Given the description of an element on the screen output the (x, y) to click on. 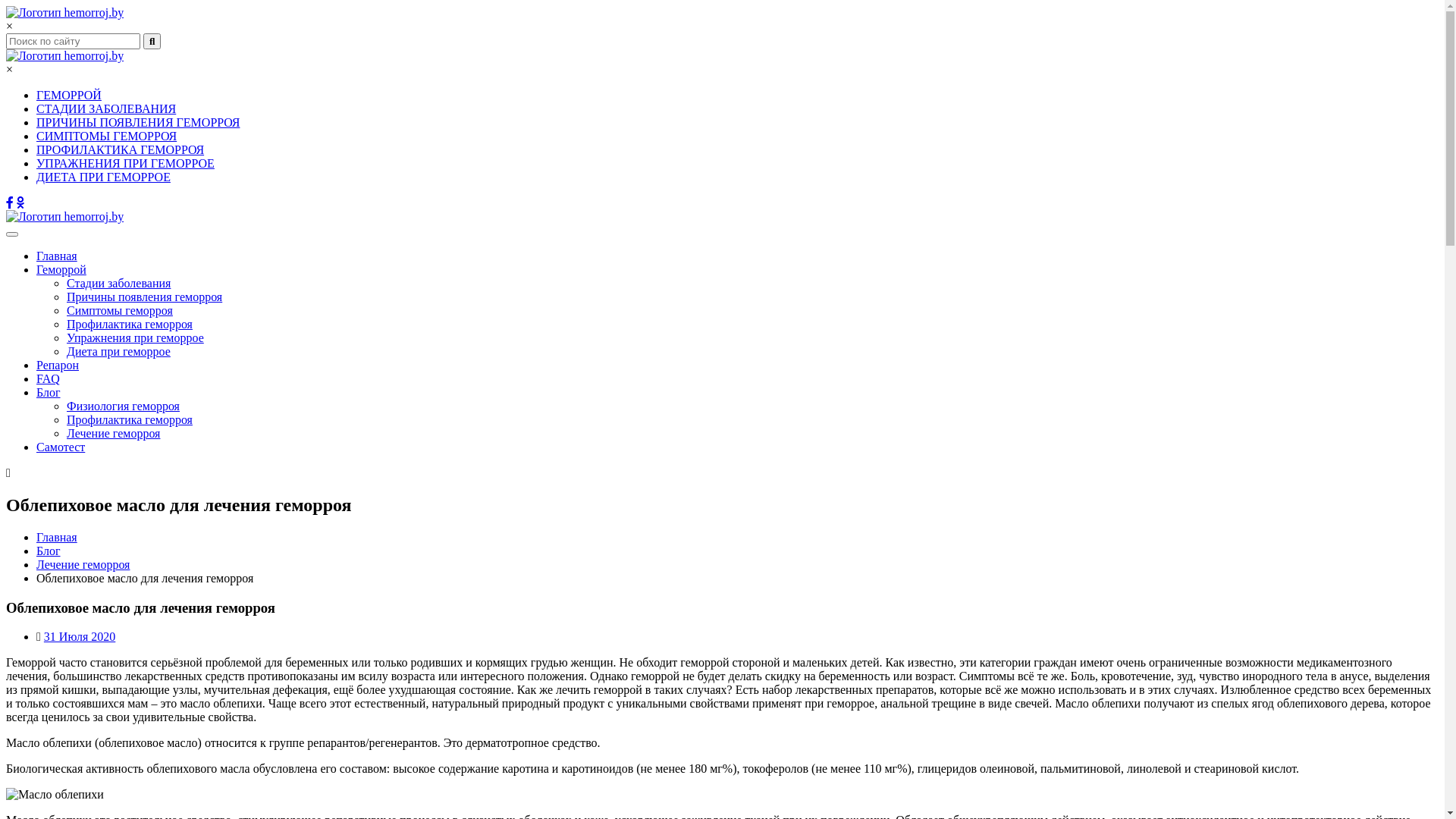
FAQ Element type: text (47, 378)
